Given the description of an element on the screen output the (x, y) to click on. 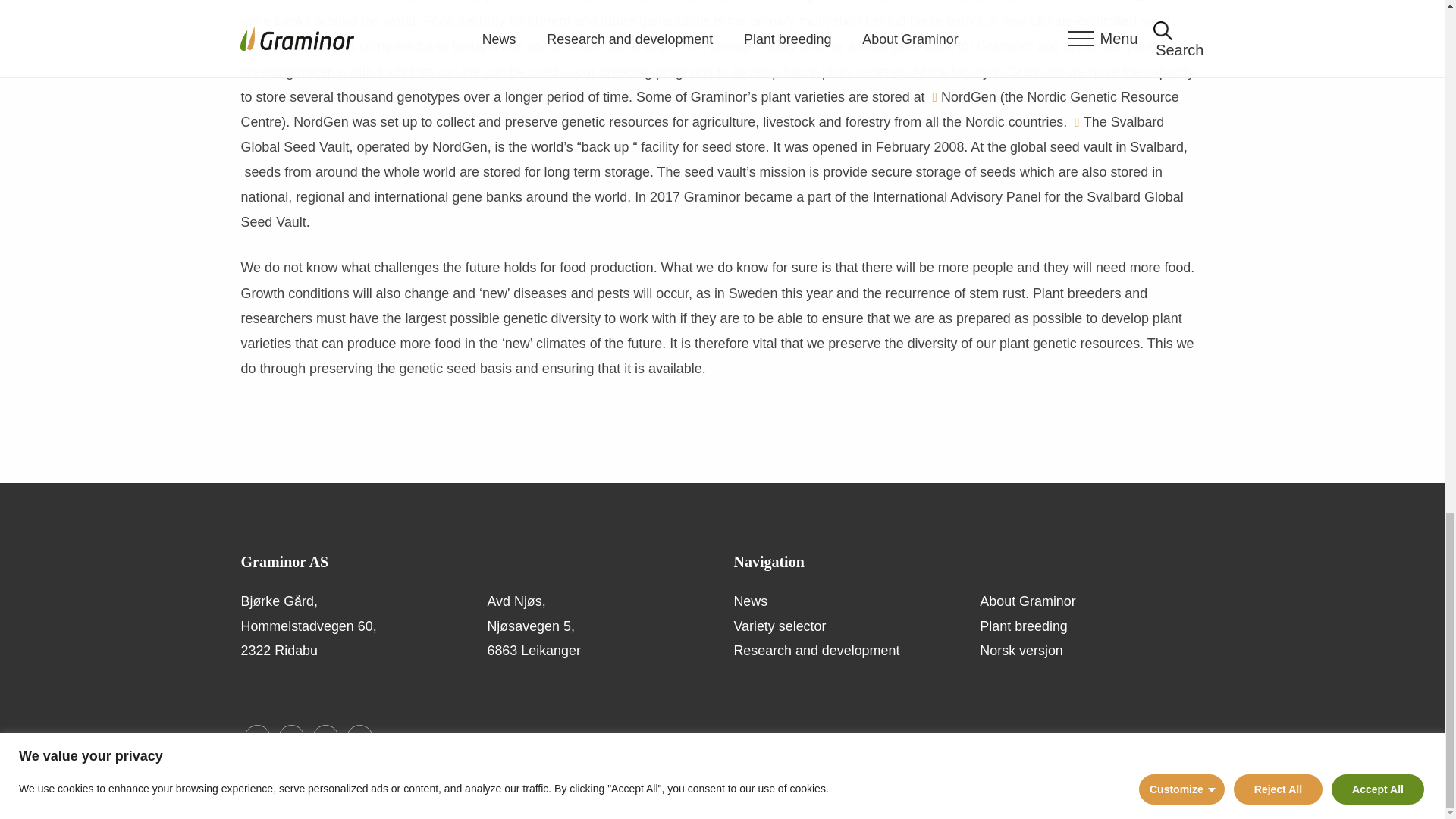
Gene banks (283, 2)
Research and development (844, 650)
Variety selector (844, 626)
News (844, 600)
NordGen (961, 97)
The Svalbard Global Seed Vault (701, 134)
